Given the description of an element on the screen output the (x, y) to click on. 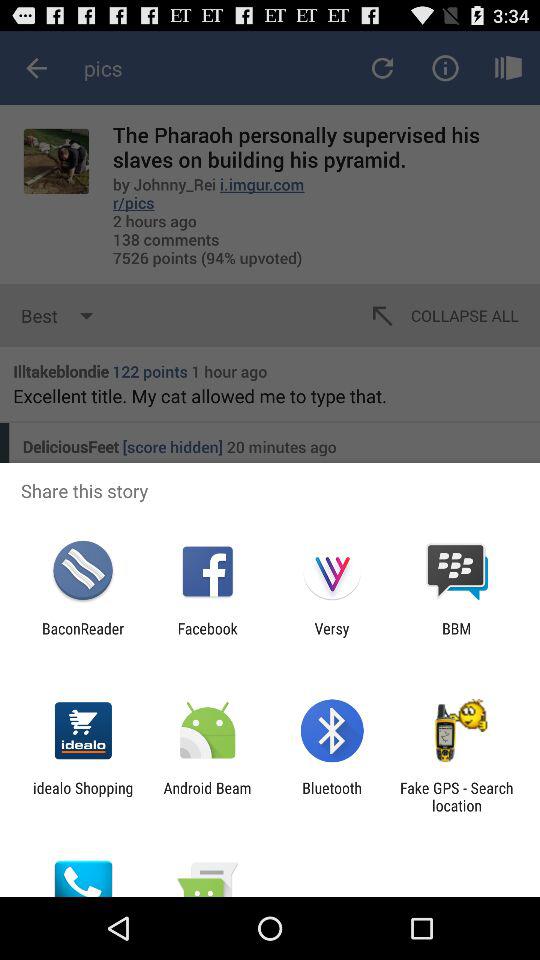
swipe to the fake gps search icon (456, 796)
